Given the description of an element on the screen output the (x, y) to click on. 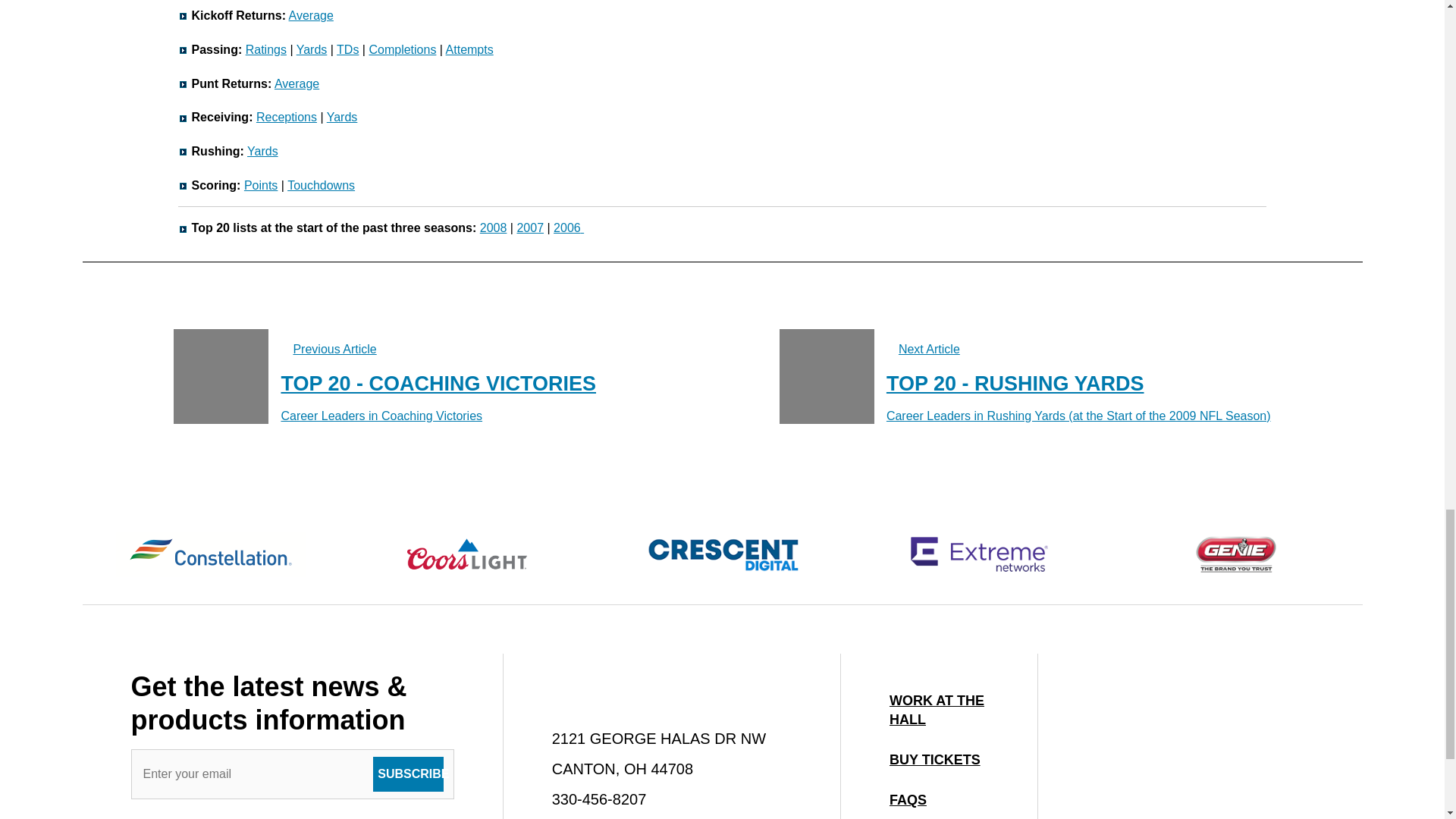
3rd party ad content (1199, 757)
